Given the description of an element on the screen output the (x, y) to click on. 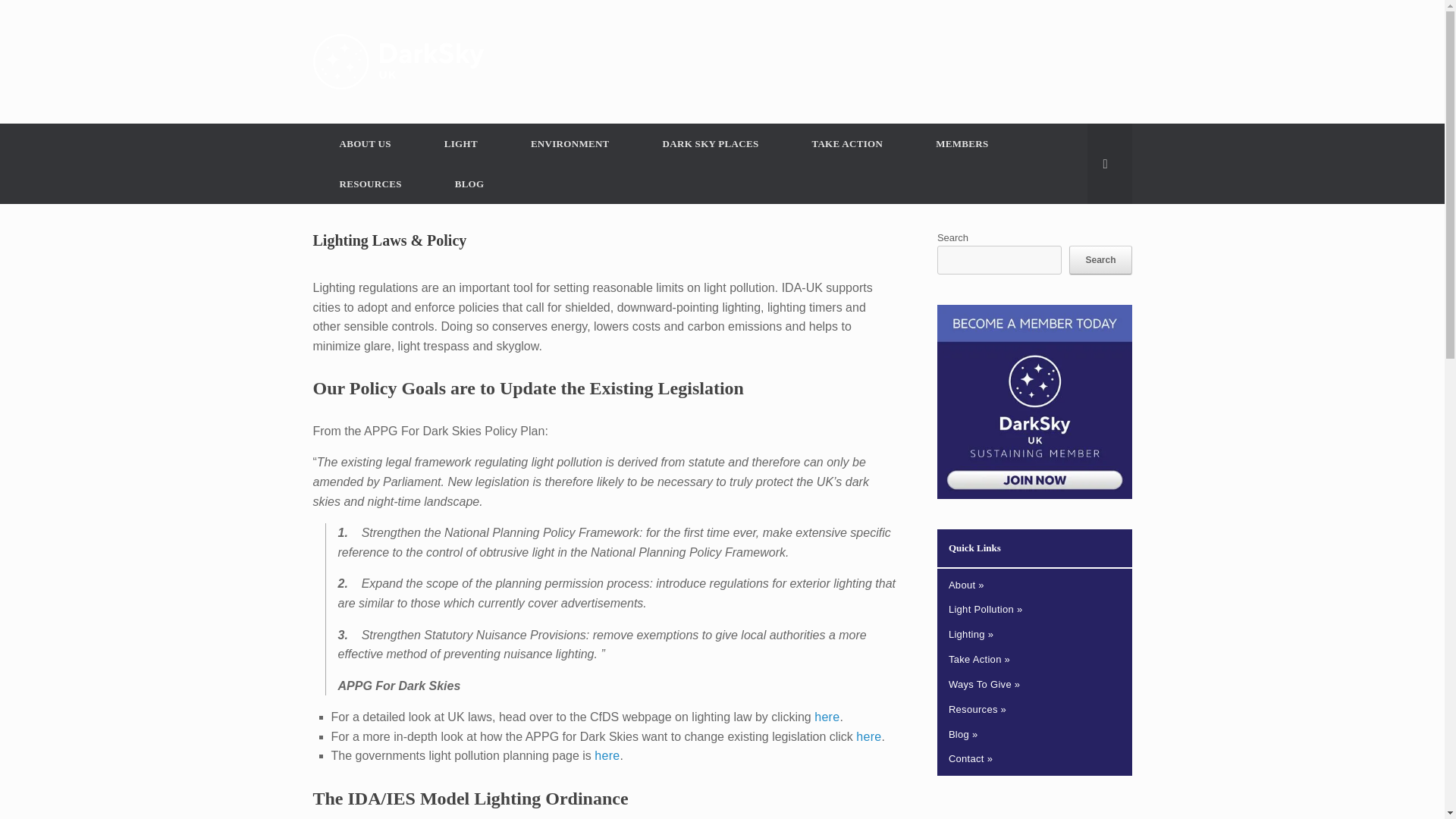
DarkSky UK (398, 61)
LIGHT (460, 143)
DARK SKY PLACES (711, 143)
ENVIRONMENT (569, 143)
TAKE ACTION (846, 143)
MEMBERS (961, 143)
ABOUT US (364, 143)
